Given the description of an element on the screen output the (x, y) to click on. 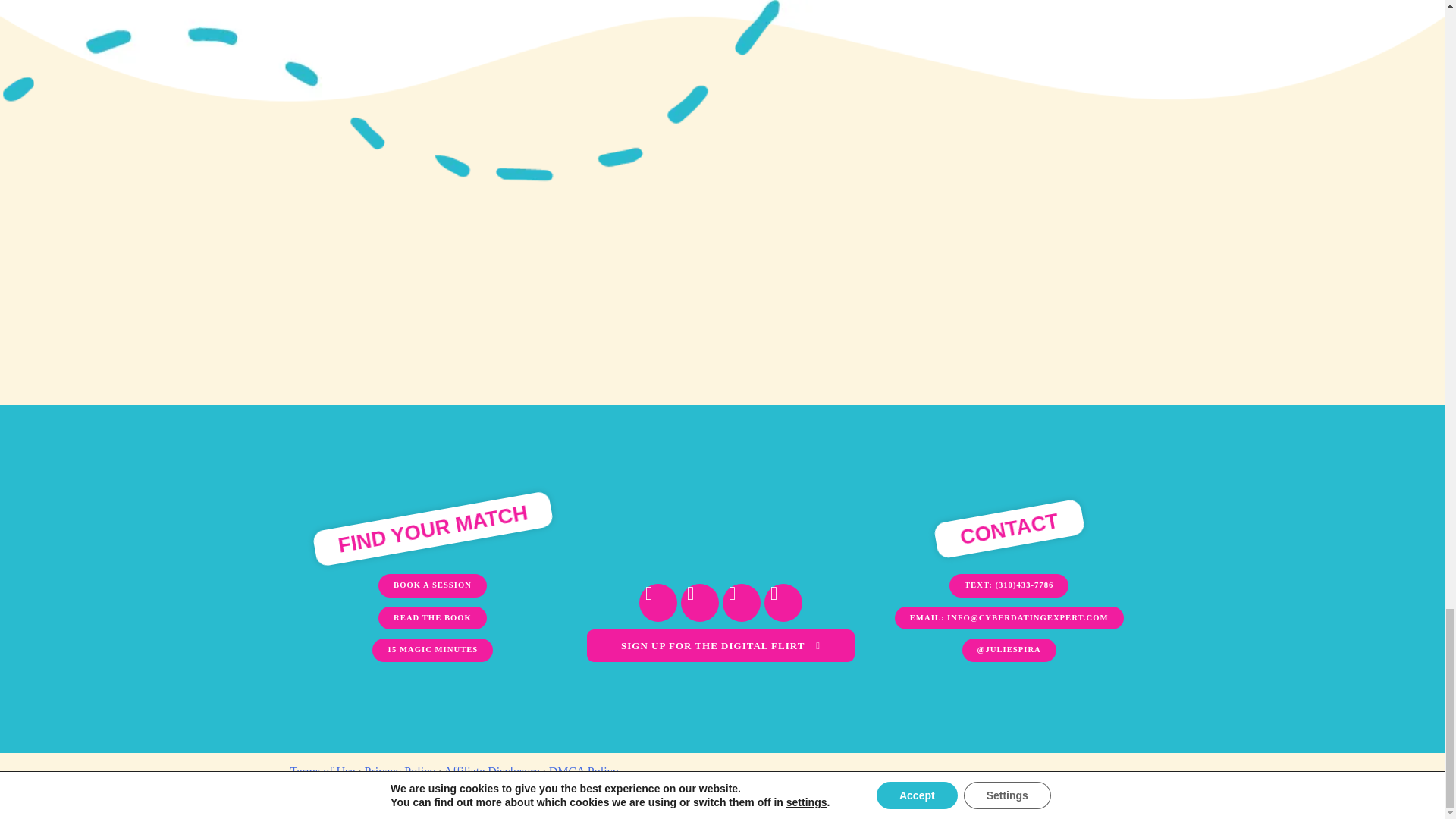
DCMA Policy (583, 771)
Terms of Use1 (322, 771)
Affiliate Disclosure (491, 771)
Privacy Policy (399, 771)
